Given the description of an element on the screen output the (x, y) to click on. 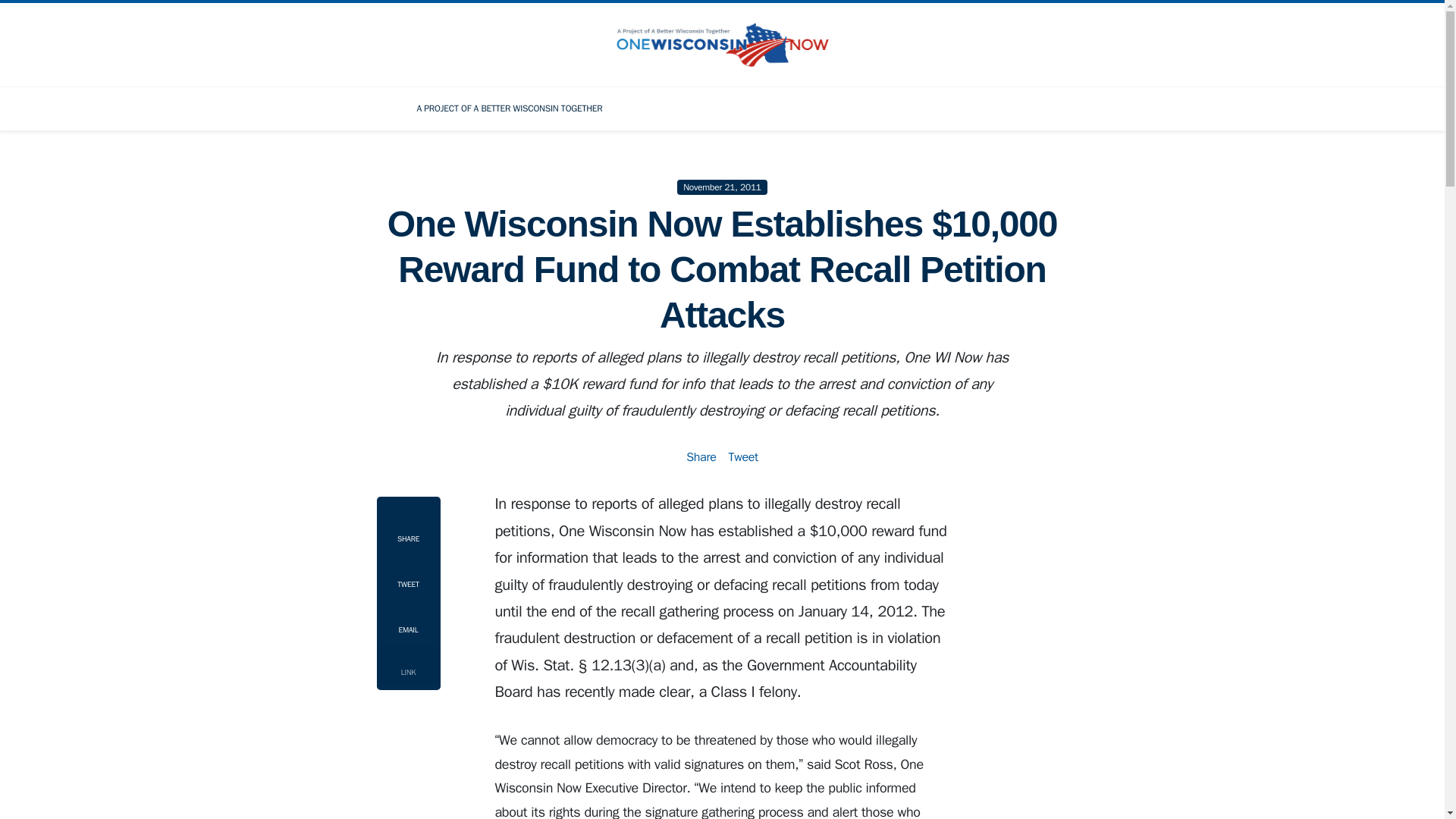
Home (379, 108)
Share (700, 457)
TWEET (407, 574)
Tweet (742, 457)
Facebook (936, 108)
LINK (407, 663)
Instagram (1022, 108)
EMAIL (407, 619)
Twitter (979, 108)
YouTube (1064, 108)
